Given the description of an element on the screen output the (x, y) to click on. 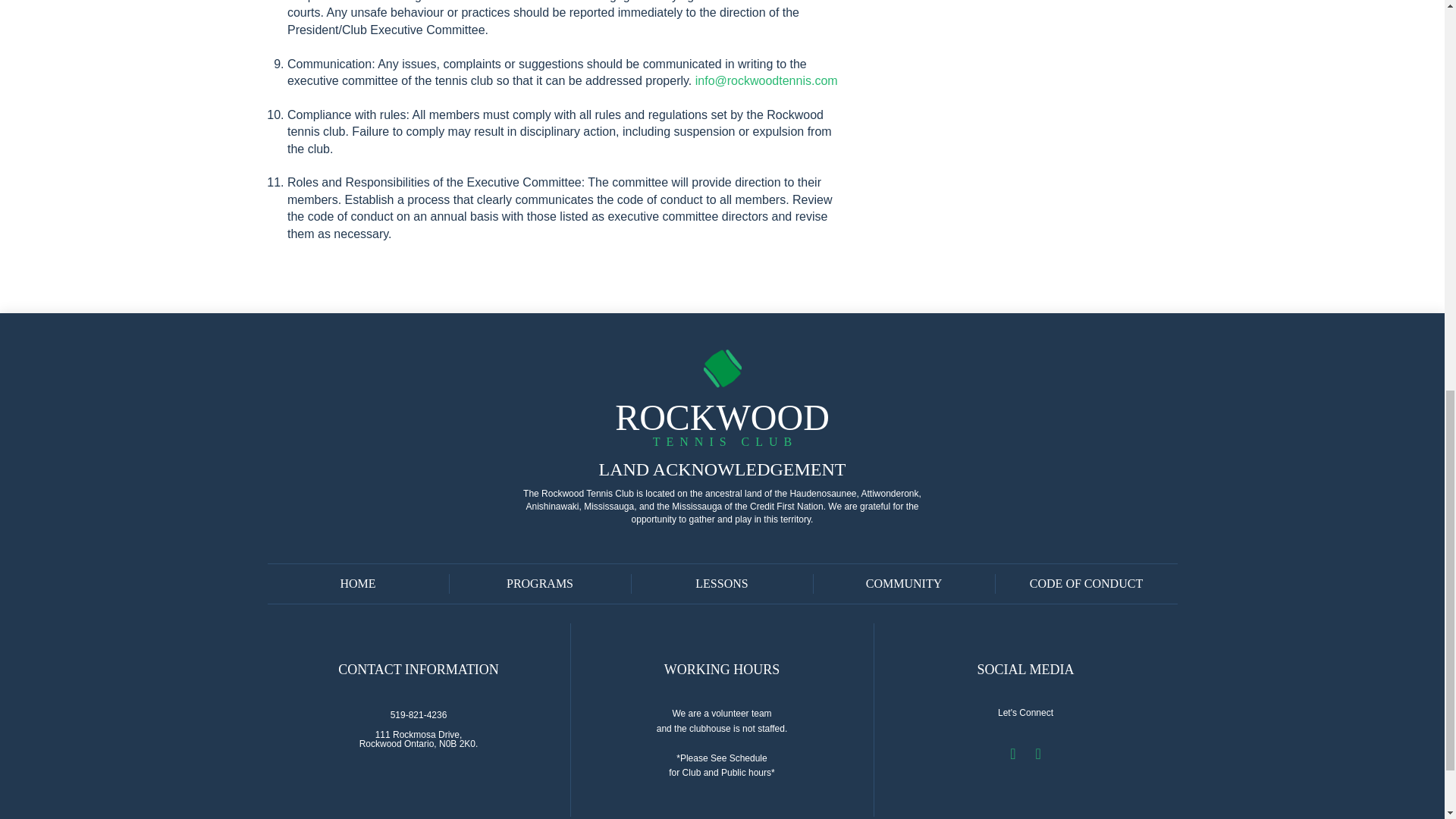
519-821-4236 (419, 714)
HOME (418, 739)
COMMUNITY (357, 583)
PROGRAMS (903, 583)
LESSONS (539, 583)
CODE OF CONDUCT (721, 423)
